Given the description of an element on the screen output the (x, y) to click on. 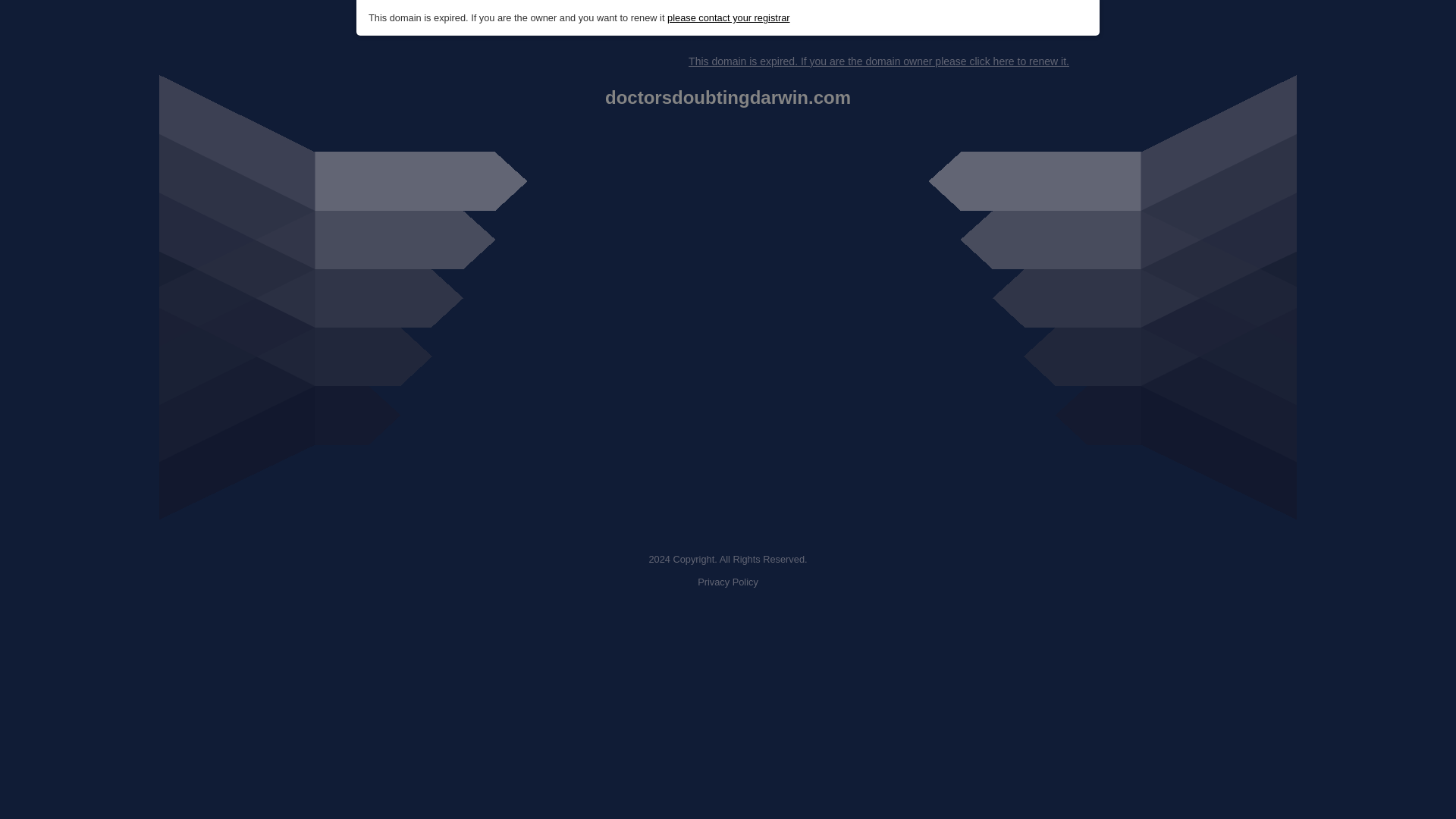
Privacy Policy (727, 582)
please contact your registrar (727, 17)
